Given the description of an element on the screen output the (x, y) to click on. 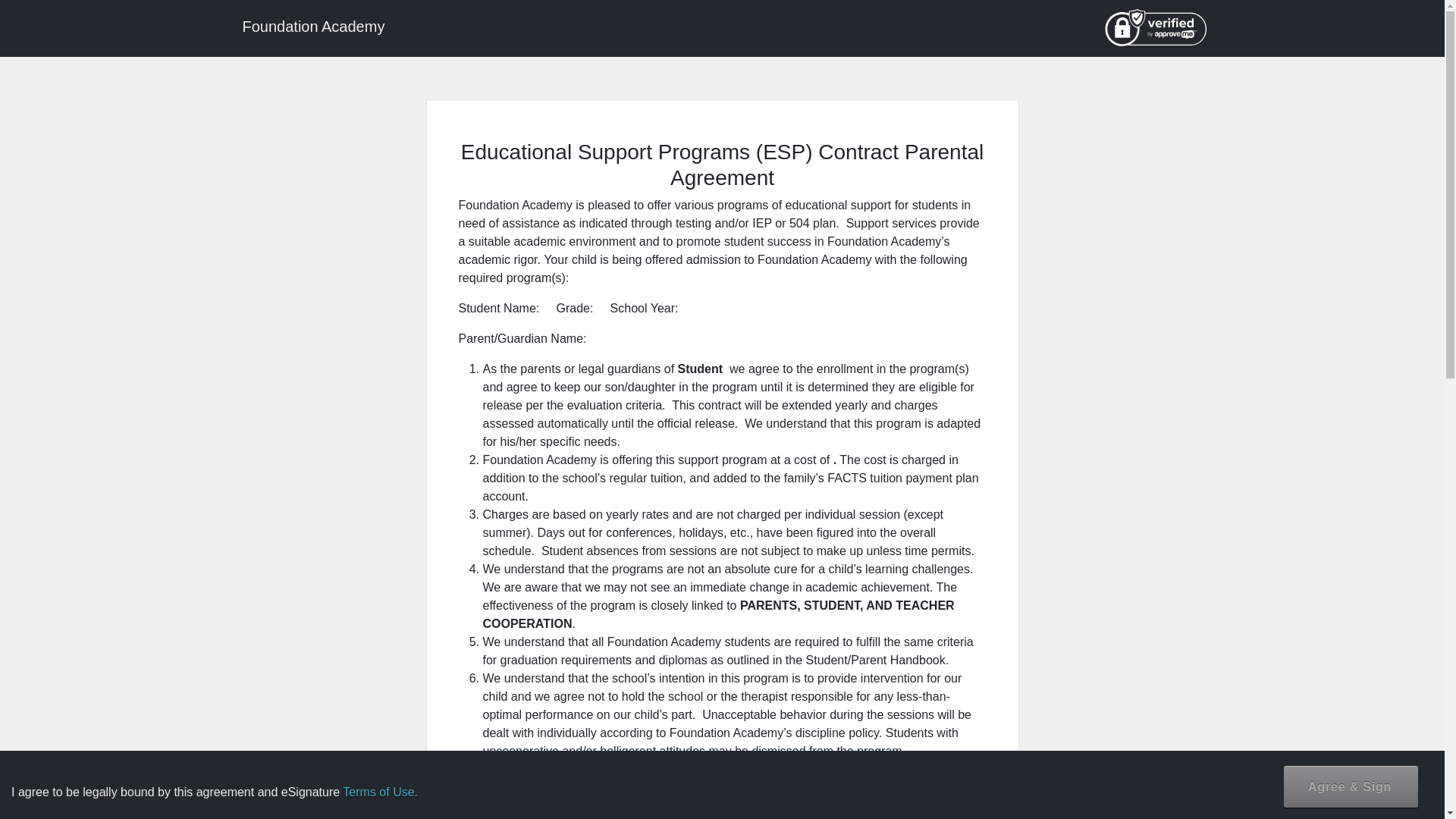
Agree and submit your signature. (1351, 786)
Foundation Academy (313, 27)
Terms of Use. (379, 791)
